Given the description of an element on the screen output the (x, y) to click on. 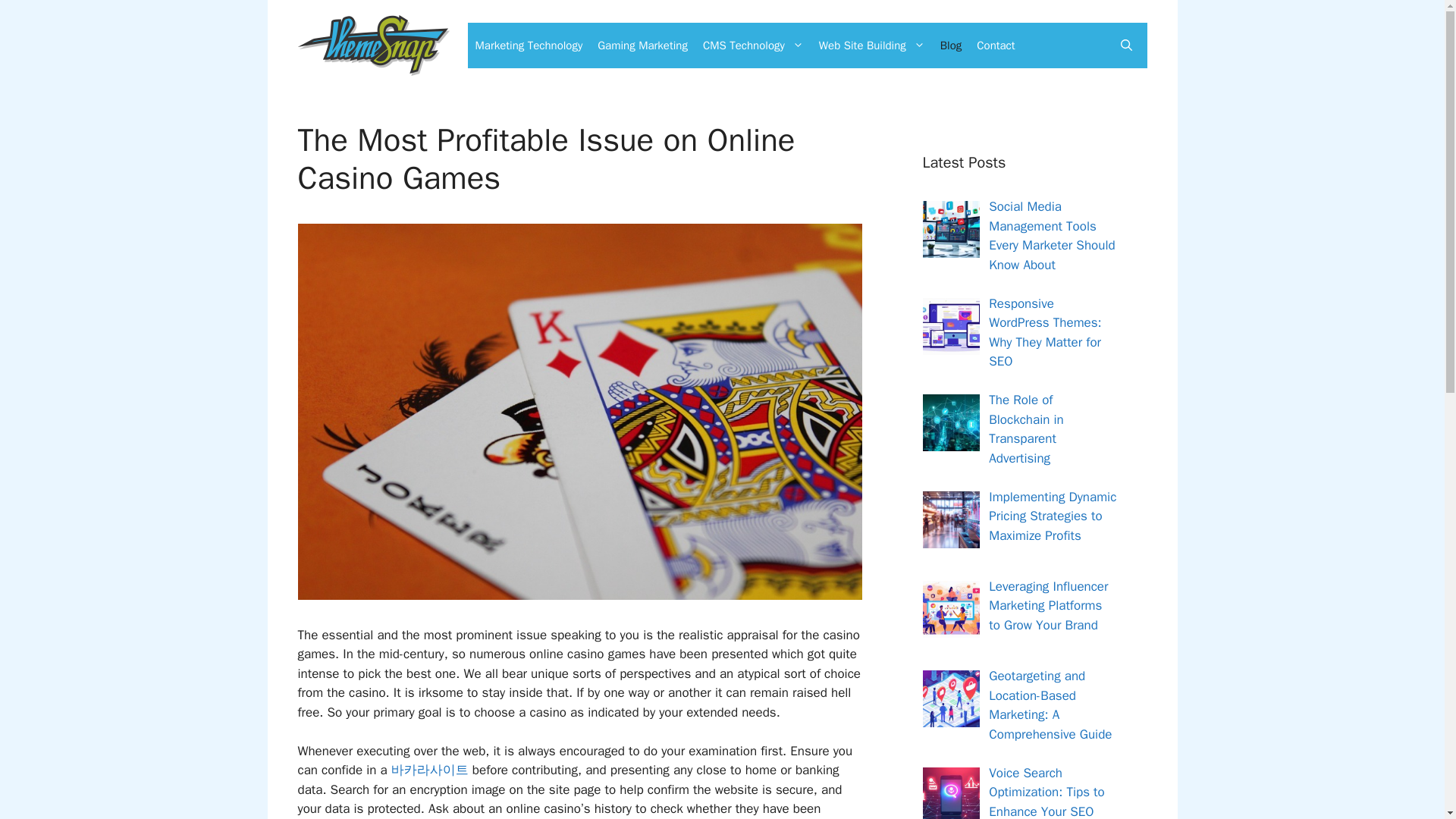
Blog (951, 44)
Voice Search Optimization: Tips to Enhance Your SEO Strategy (1045, 791)
The Role of Blockchain in Transparent Advertising (1025, 429)
CMS Technology (752, 44)
Web Site Building (871, 44)
Leveraging Influencer Marketing Platforms to Grow Your Brand (1048, 605)
Responsive WordPress Themes: Why They Matter for SEO (1044, 332)
Implementing Dynamic Pricing Strategies to Maximize Profits (1052, 515)
Marketing Technology (528, 44)
Gaming Marketing (642, 44)
Contact (995, 44)
